Given the description of an element on the screen output the (x, y) to click on. 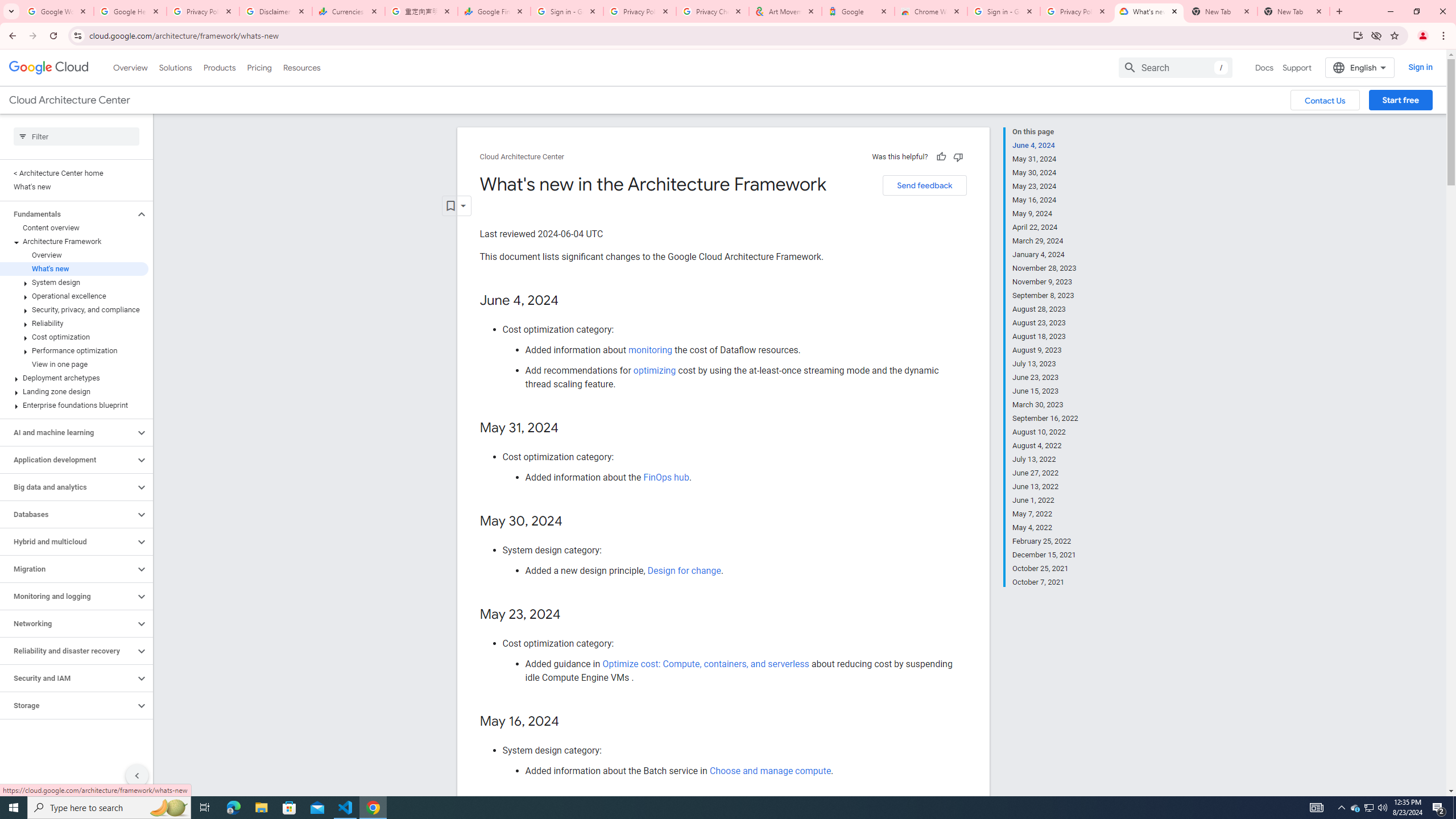
Currencies - Google Finance (348, 11)
December 15, 2021 (1044, 554)
System design (74, 282)
< Architecture Center home (74, 173)
